Given the description of an element on the screen output the (x, y) to click on. 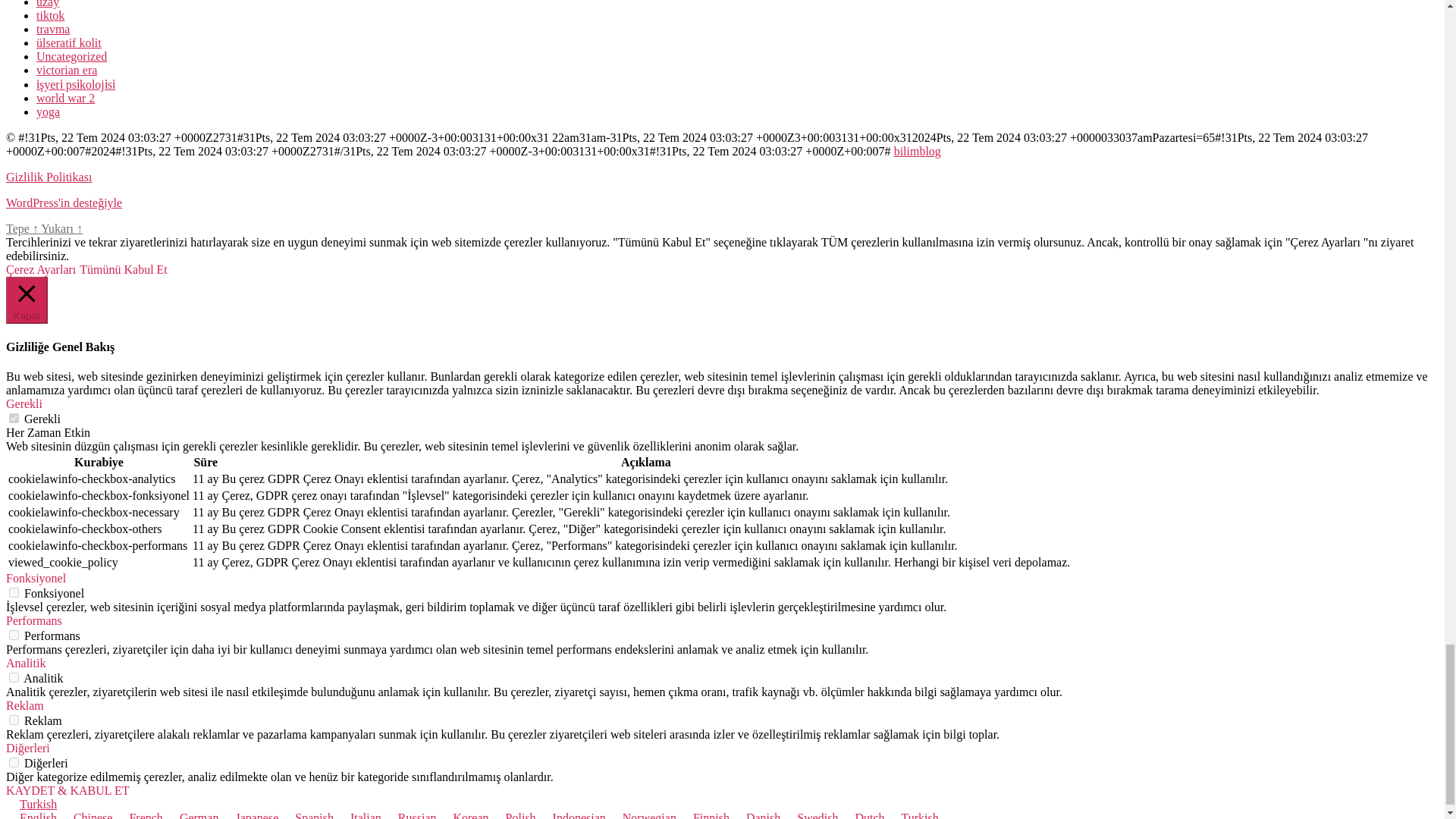
Turkish (12, 803)
on (13, 719)
on (13, 634)
on (13, 762)
on (13, 677)
on (13, 418)
on (13, 592)
